Given the description of an element on the screen output the (x, y) to click on. 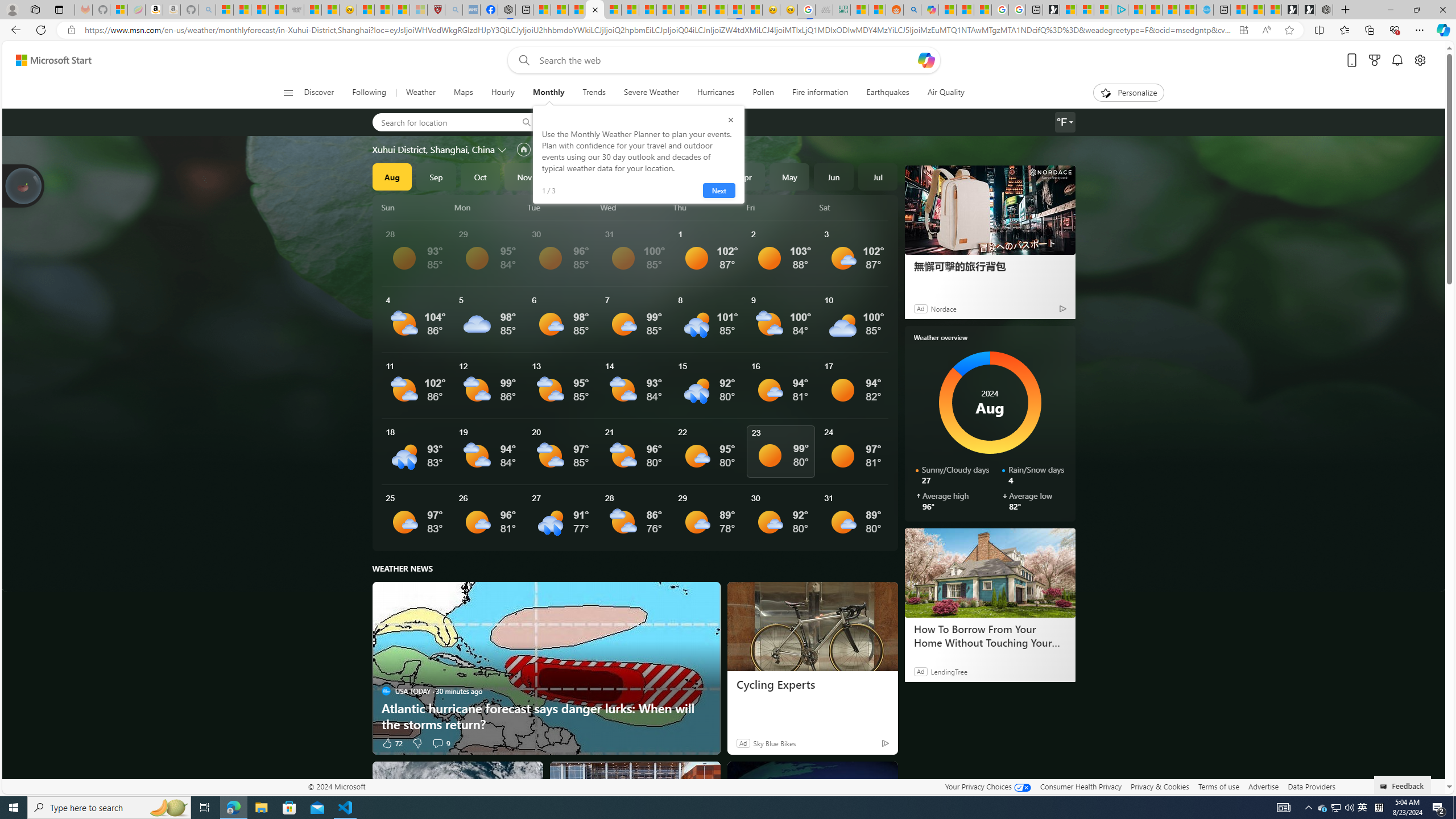
Home | Sky Blue Bikes - Sky Blue Bikes (1204, 9)
